Given the description of an element on the screen output the (x, y) to click on. 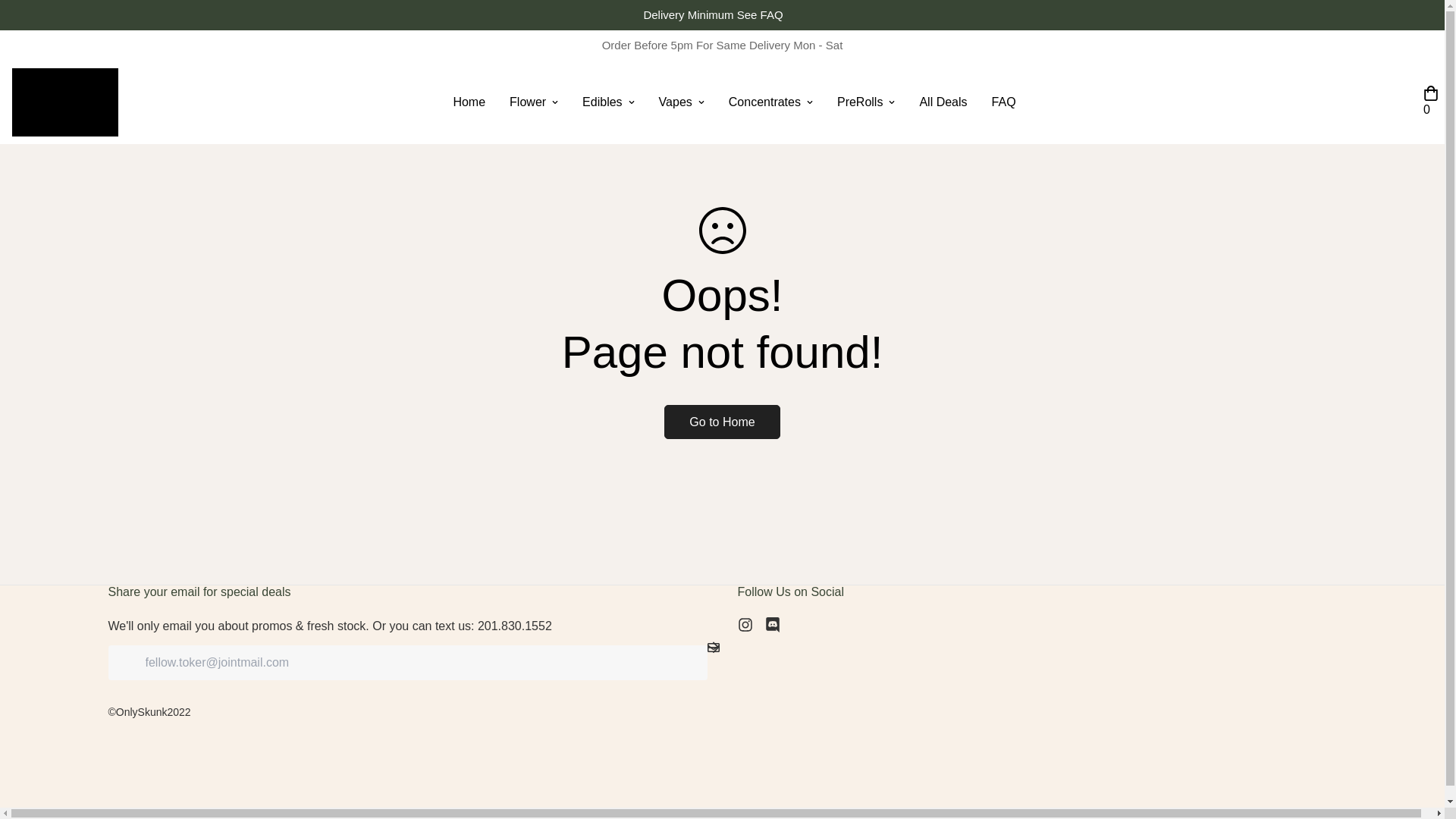
All Deals (942, 101)
Vapes (681, 101)
PreRolls (866, 101)
Edibles (608, 101)
Concentrates (770, 101)
Home (469, 101)
Flower (533, 101)
